Given the description of an element on the screen output the (x, y) to click on. 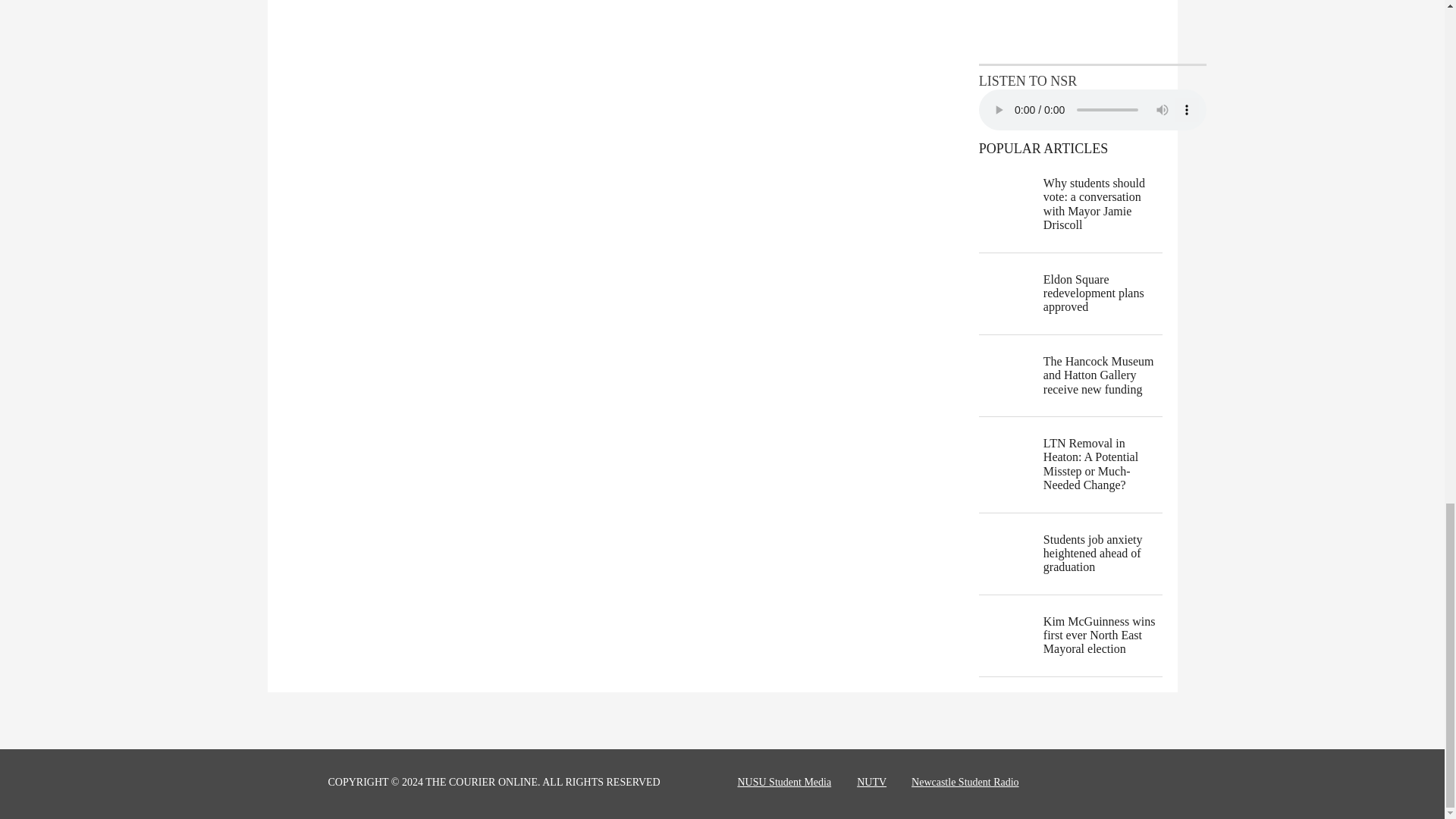
Uploads from NUTV (1092, 30)
